Given the description of an element on the screen output the (x, y) to click on. 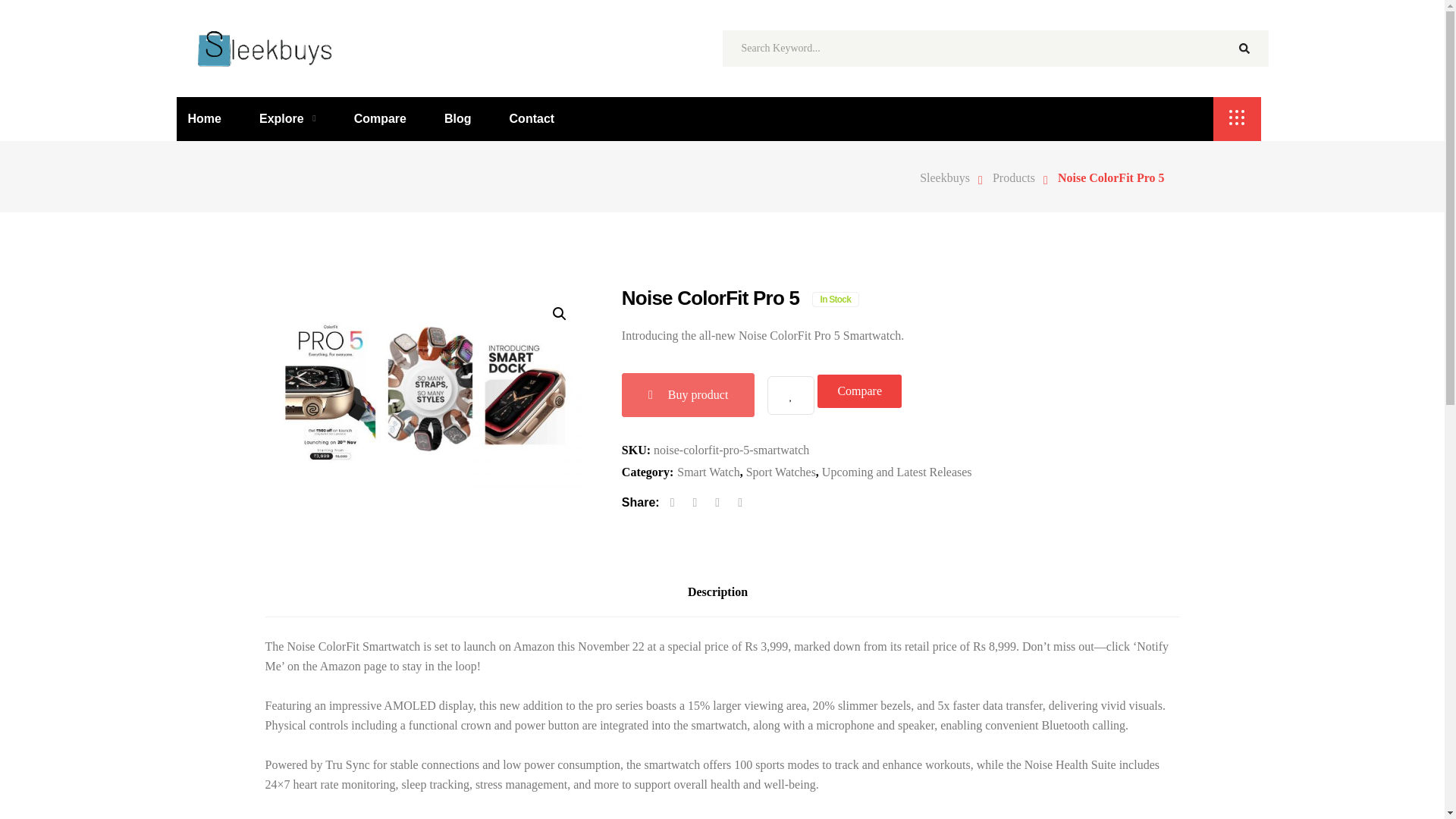
Explore (287, 119)
Go to Sleekbuys. (952, 177)
Go to Products. (1017, 177)
Home (209, 119)
